Given the description of an element on the screen output the (x, y) to click on. 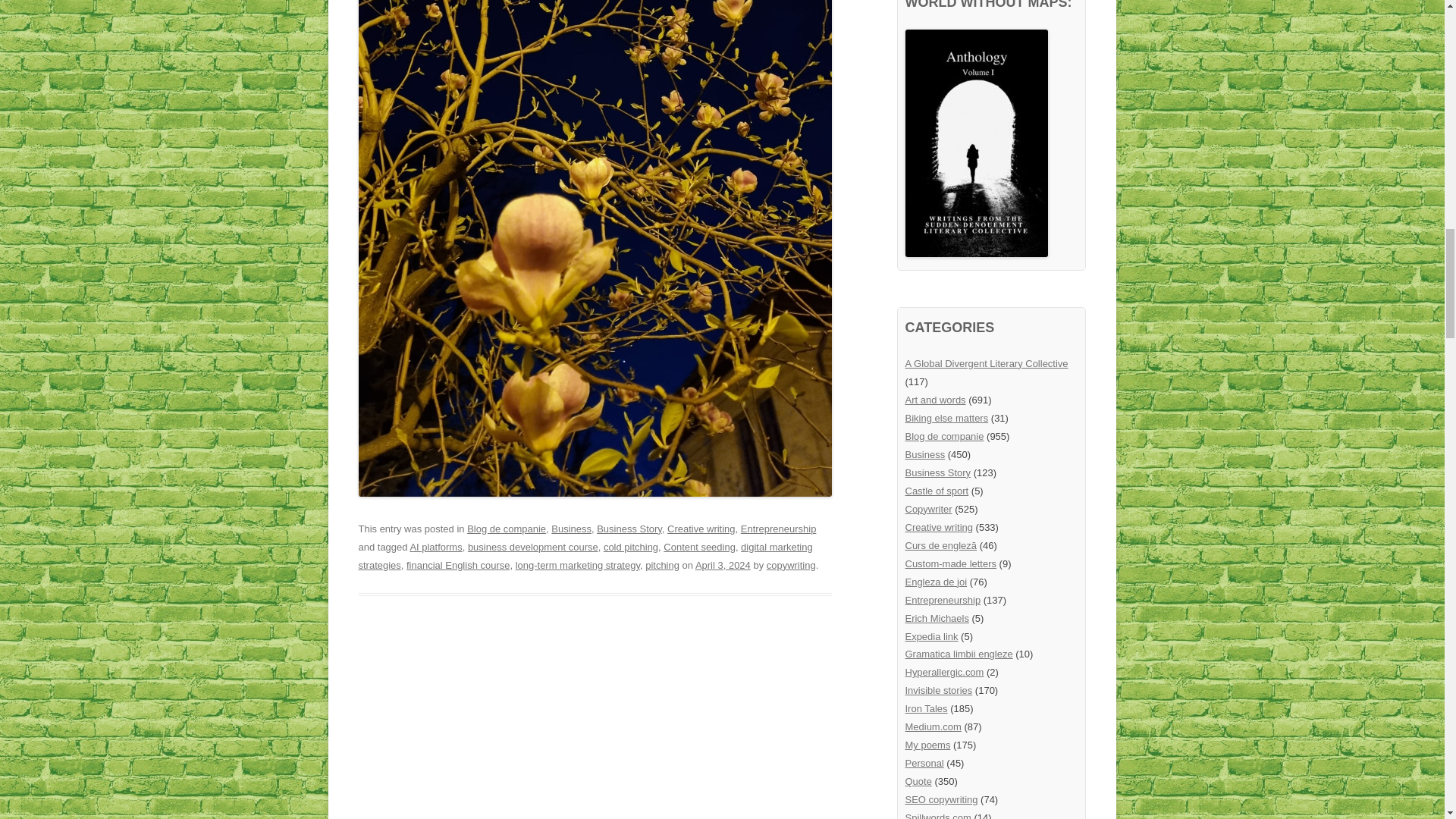
digital marketing strategies (585, 555)
Creative writing (700, 528)
Entrepreneurship (778, 528)
11:04 am (723, 564)
Business (571, 528)
copywriting (791, 564)
AI platforms (435, 546)
View all posts by copywriting (791, 564)
April 3, 2024 (723, 564)
pitching (662, 564)
